Given the description of an element on the screen output the (x, y) to click on. 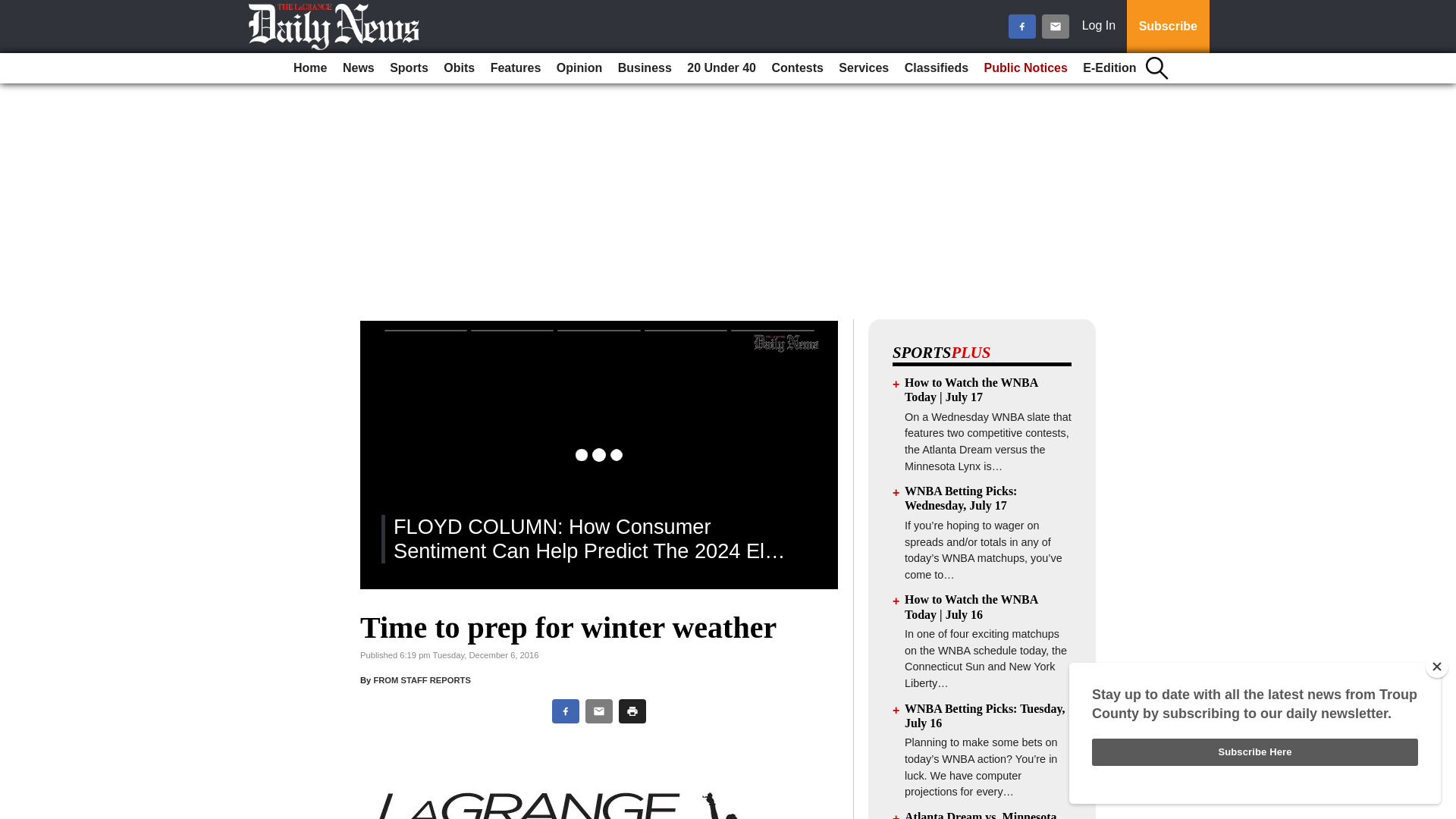
Obits (459, 68)
FROM STAFF REPORTS (421, 679)
Classifieds (936, 68)
E-Edition (1109, 68)
Log In (1101, 26)
Go (13, 9)
Subscribe (1167, 26)
Sports (408, 68)
Services (863, 68)
Features (515, 68)
Contests (796, 68)
